Given the description of an element on the screen output the (x, y) to click on. 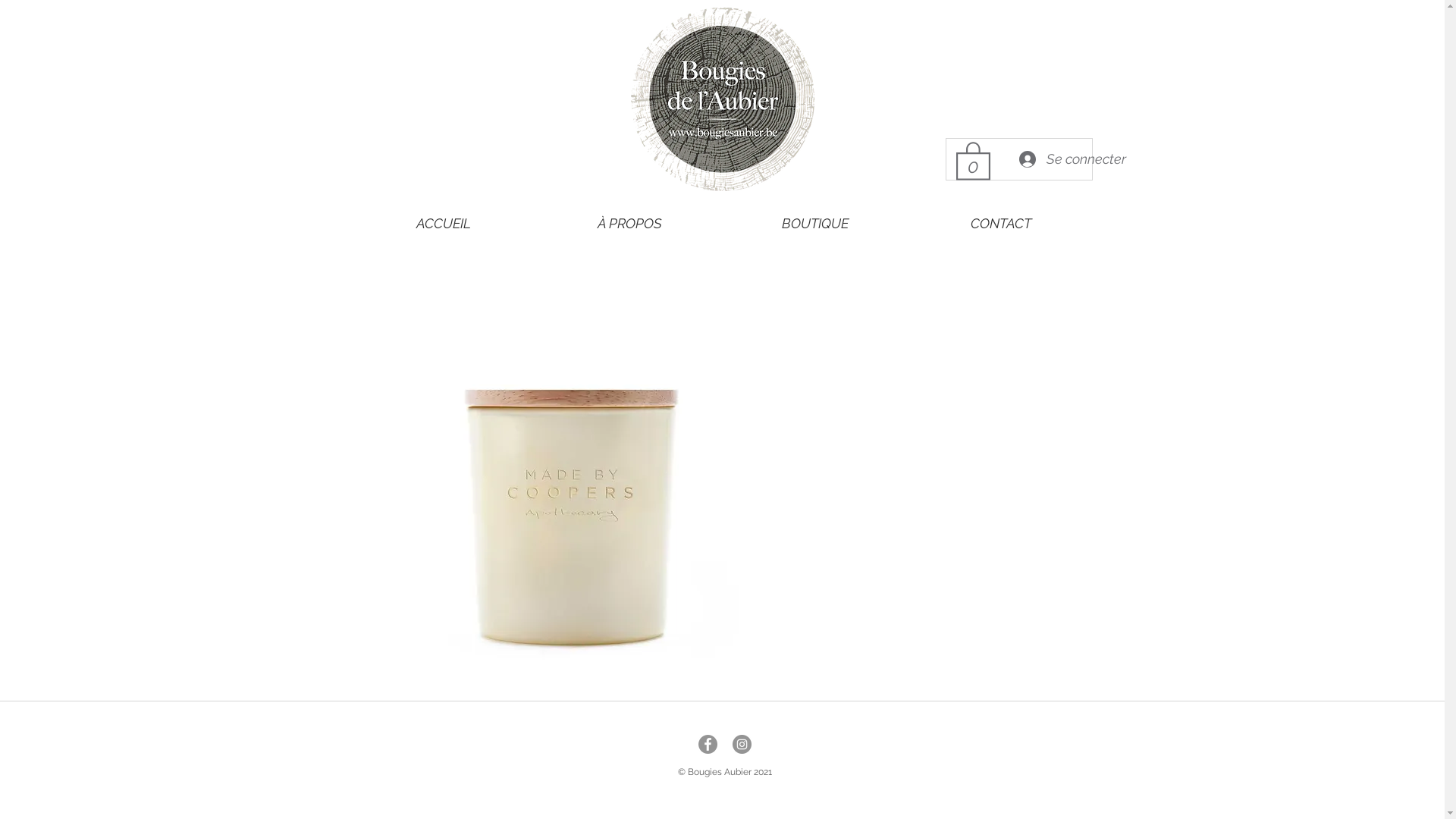
bougies.JPG Element type: hover (722, 99)
BOUTIQUE Element type: text (814, 216)
ACCUEIL Element type: text (443, 216)
0 Element type: text (972, 159)
CONTACT Element type: text (1001, 216)
Se connecter Element type: text (1050, 158)
